Given the description of an element on the screen output the (x, y) to click on. 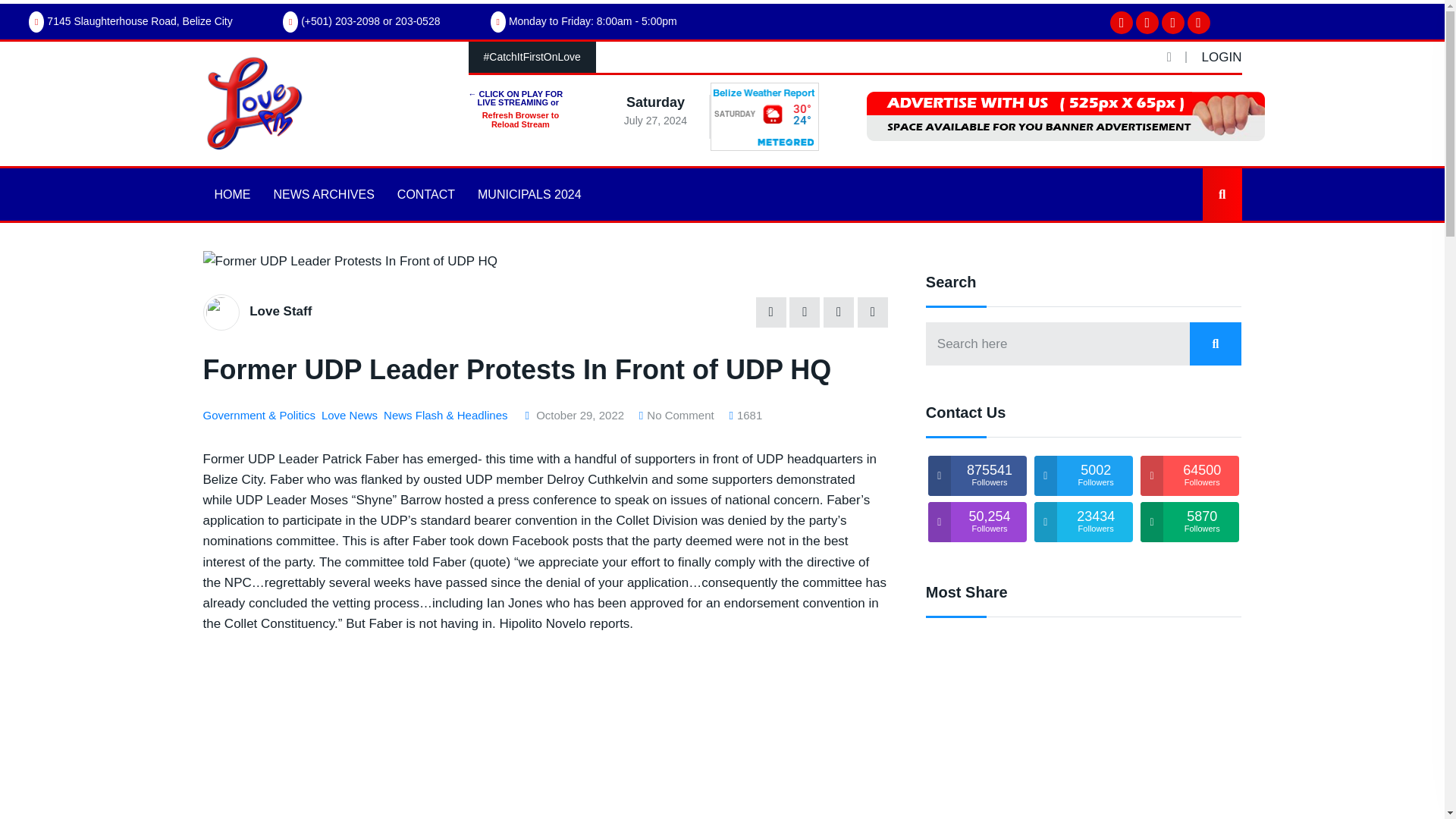
NEWS ARCHIVES (323, 194)
MUNICIPALS 2024 (528, 194)
Former UDP Leader Protests In Front of UDP HQ (545, 732)
Home (227, 207)
LOGIN (1221, 56)
Love Staff (279, 310)
CONTACT (425, 194)
HOME (232, 194)
